Given the description of an element on the screen output the (x, y) to click on. 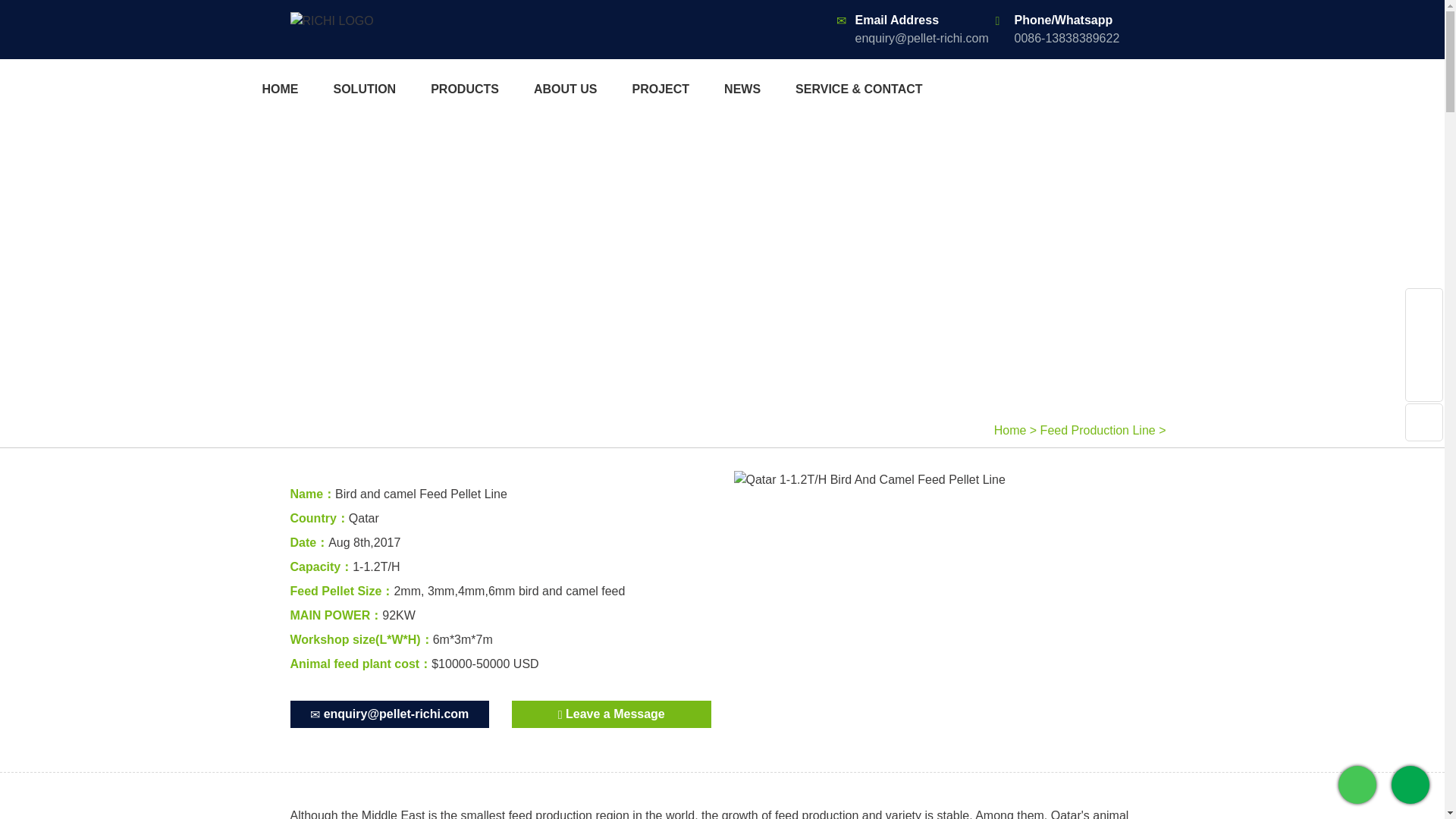
0086-13838389622 (1066, 38)
PRODUCTS (464, 88)
PRODUCTS (464, 88)
Feed Pellet Mill (330, 19)
